Given the description of an element on the screen output the (x, y) to click on. 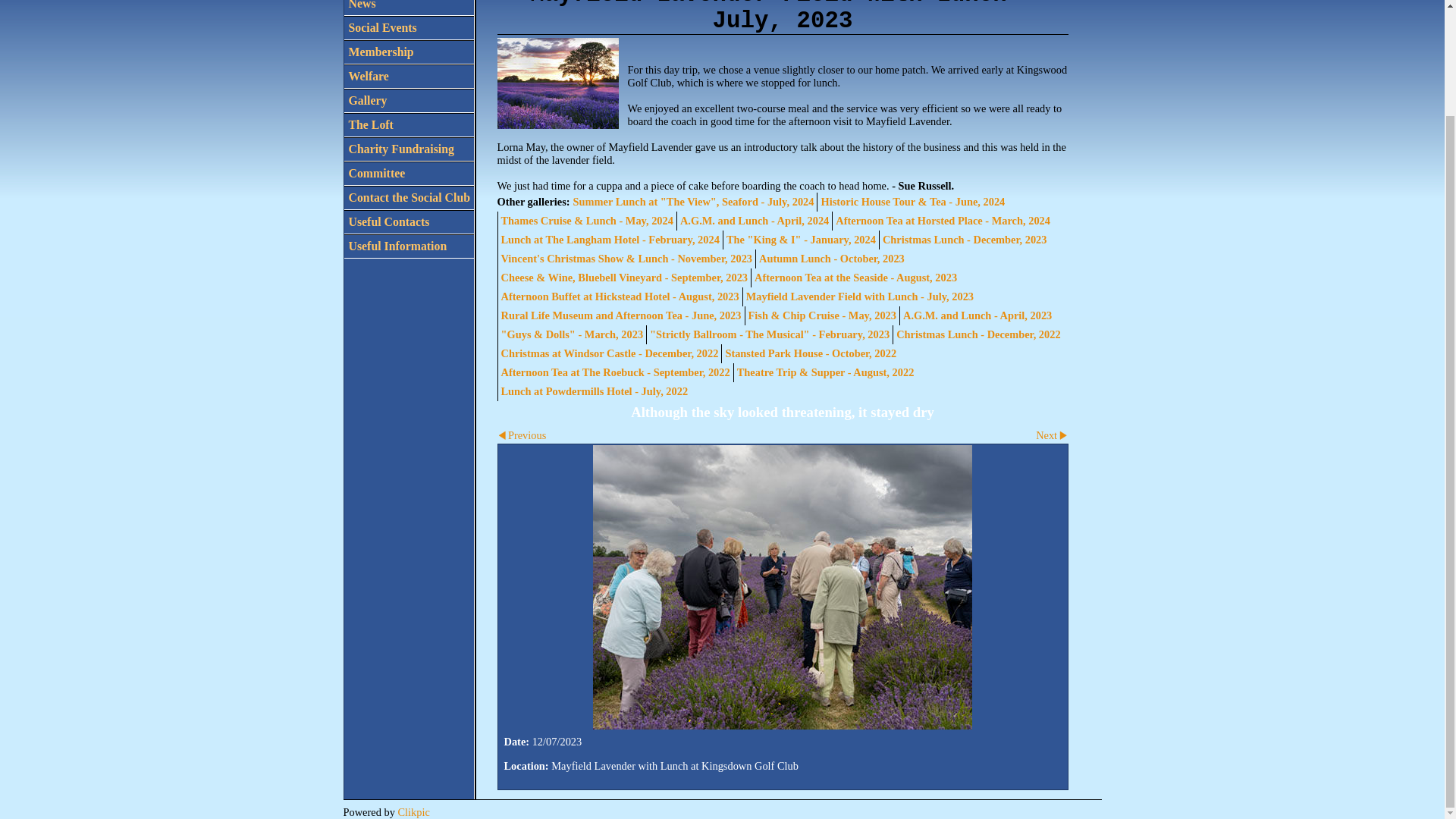
Social Events (408, 27)
Welfare (408, 76)
Gallery (408, 100)
Membership (408, 52)
News (408, 7)
